Given the description of an element on the screen output the (x, y) to click on. 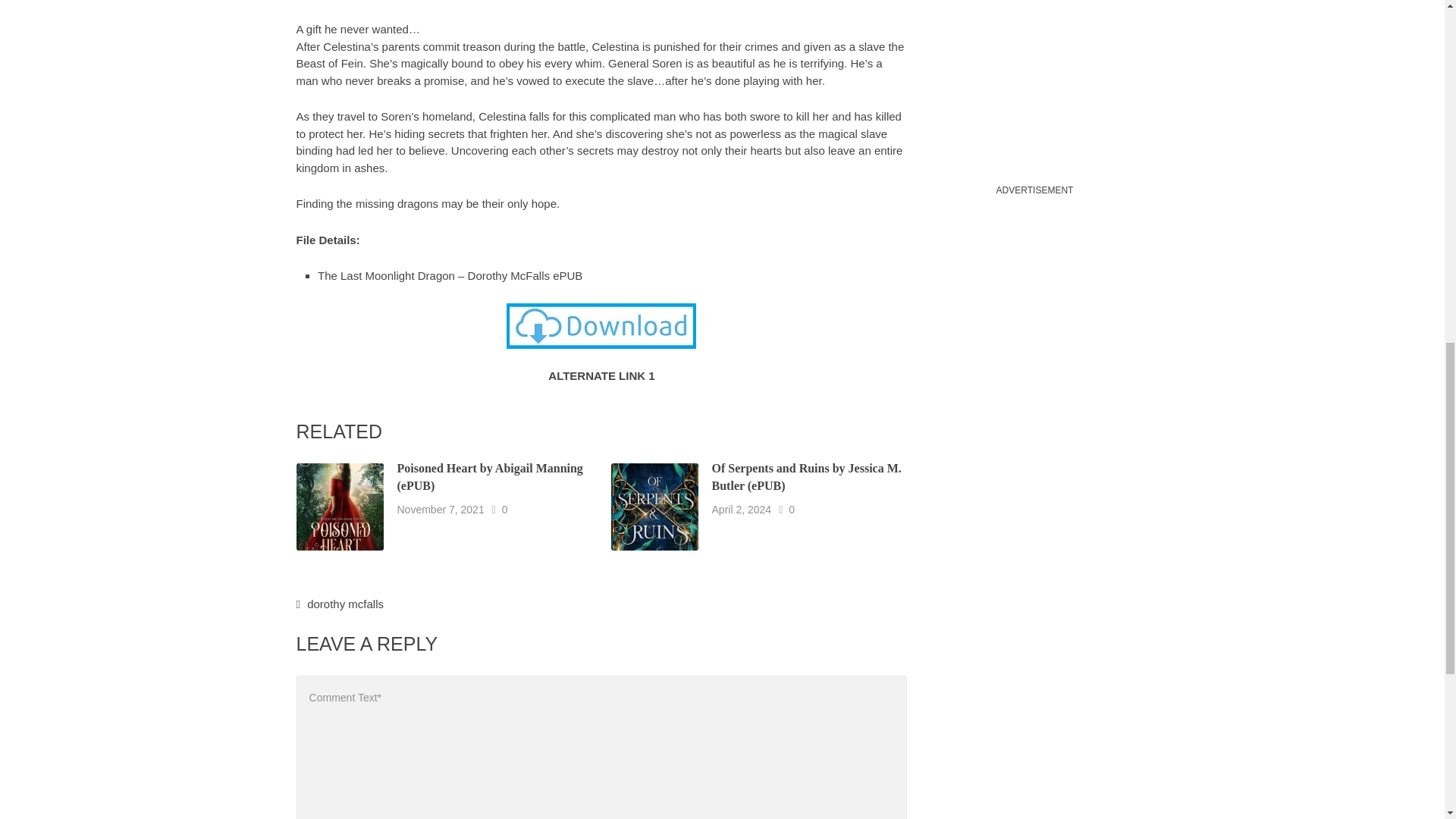
ALTERNATE LINK 1 (600, 374)
0 (791, 509)
dorothy mcfalls (345, 603)
